Given the description of an element on the screen output the (x, y) to click on. 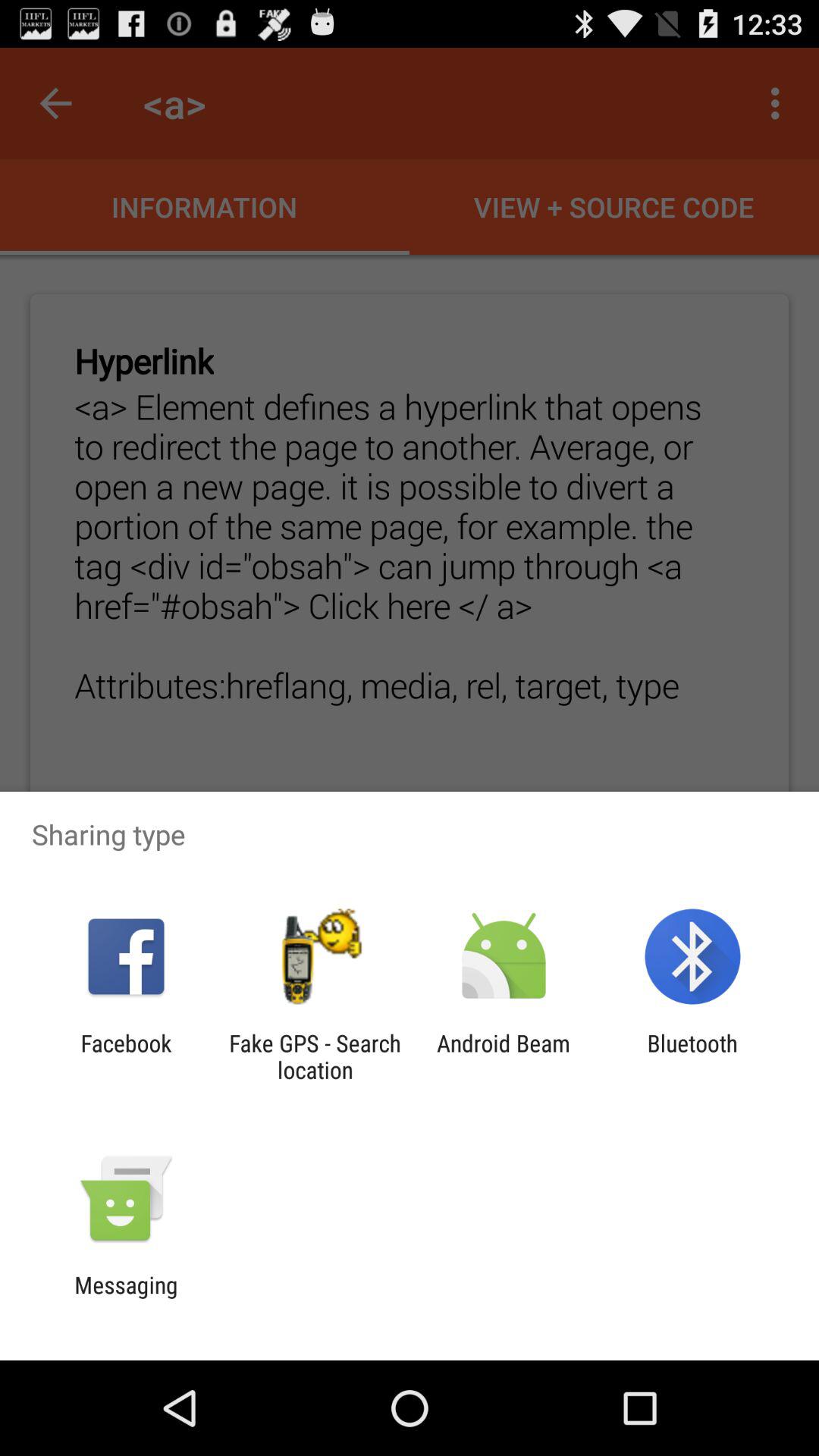
press app to the left of the fake gps search app (125, 1056)
